Given the description of an element on the screen output the (x, y) to click on. 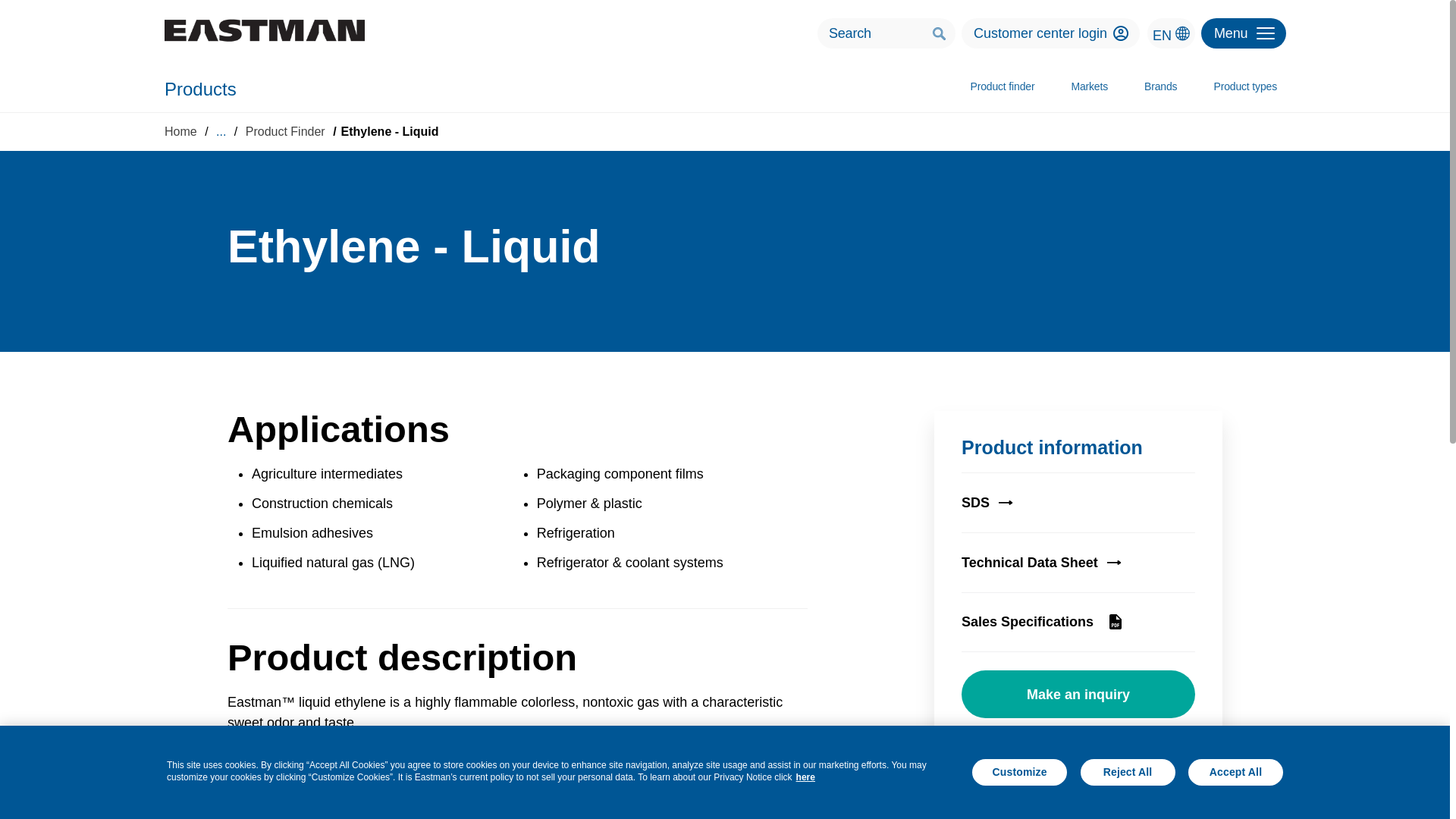
Eastman Company  (264, 30)
Customer center login (1120, 32)
Customer center login (1050, 33)
Menu (1243, 33)
